Given the description of an element on the screen output the (x, y) to click on. 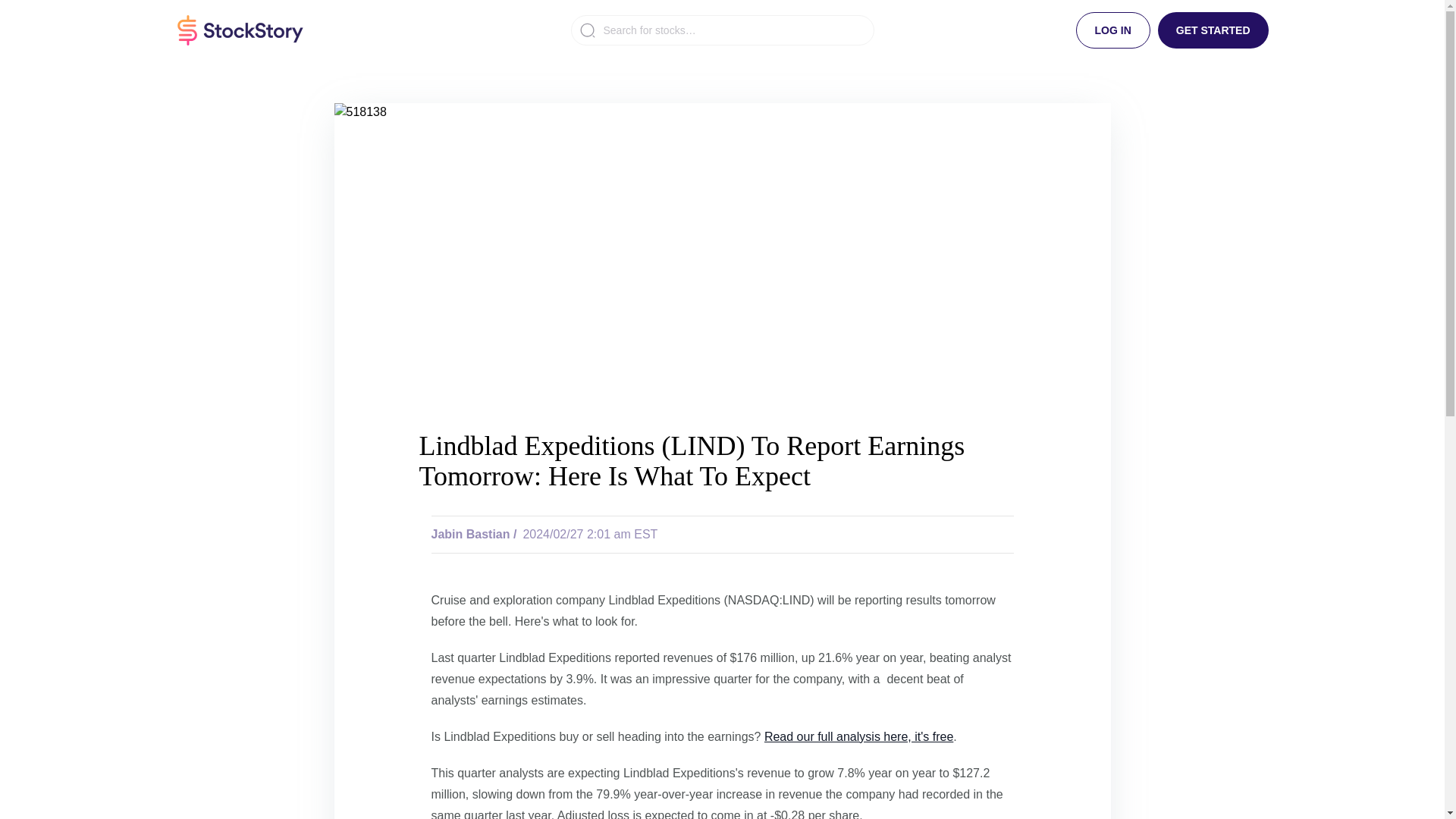
GET STARTED (1212, 30)
Read our full analysis here, it's free (858, 736)
LOG IN (1112, 30)
